Given the description of an element on the screen output the (x, y) to click on. 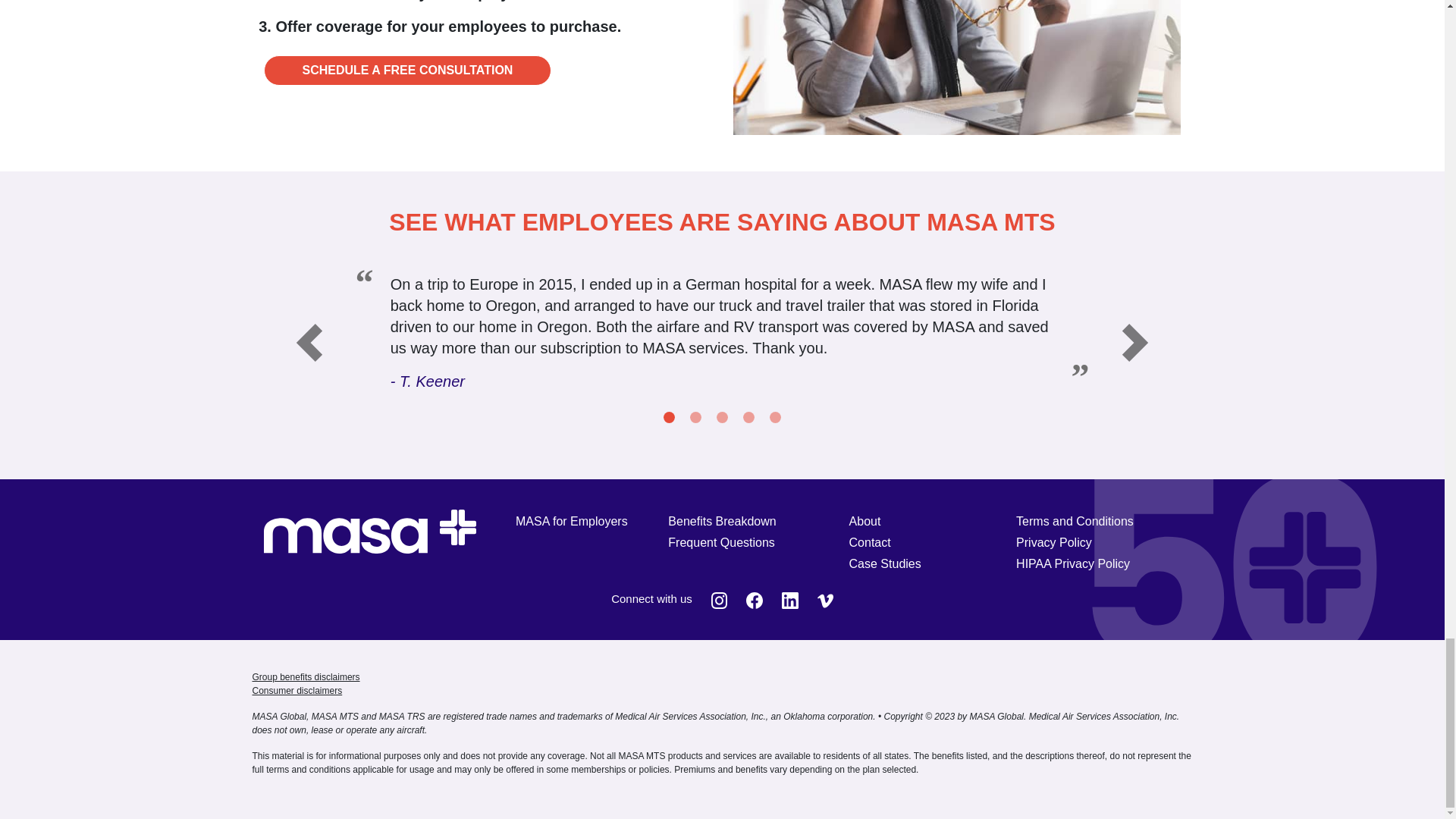
Consumer disclaimers (296, 690)
Contact (869, 542)
Terms and Conditions (1075, 521)
MASA for Employers (571, 521)
SCHEDULE A FREE CONSULTATION (407, 70)
Frequent Questions (721, 542)
Group benefits disclaimers (305, 676)
Privacy Policy (1054, 542)
Case Studies (884, 563)
Benefits Breakdown (722, 521)
